Given the description of an element on the screen output the (x, y) to click on. 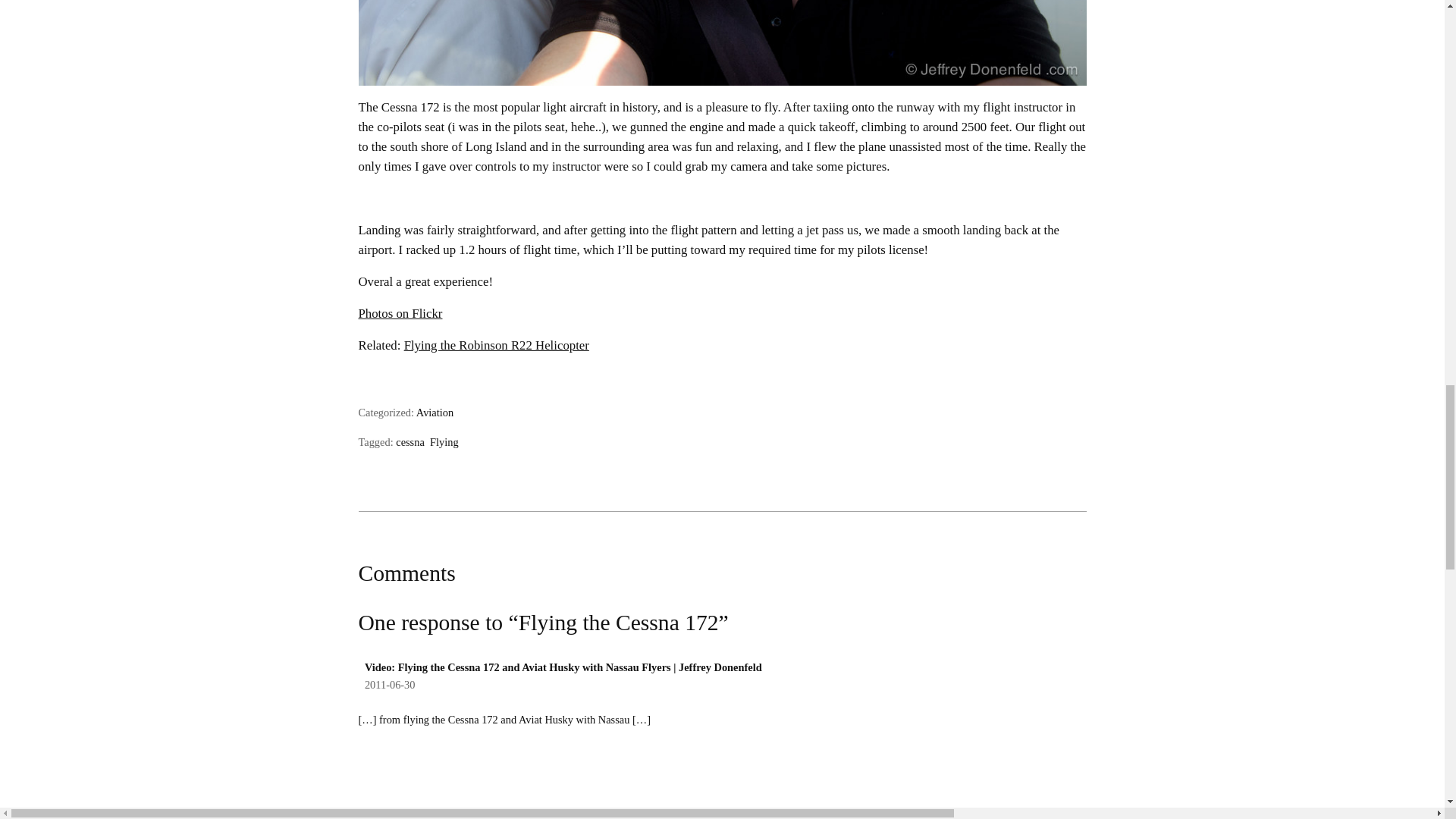
2011-06-30 (389, 684)
cessna (410, 441)
Flying (443, 441)
Flying the Robinson R22 Helicopter (496, 345)
Photos on Flickr (400, 313)
Aviation (434, 412)
